Given the description of an element on the screen output the (x, y) to click on. 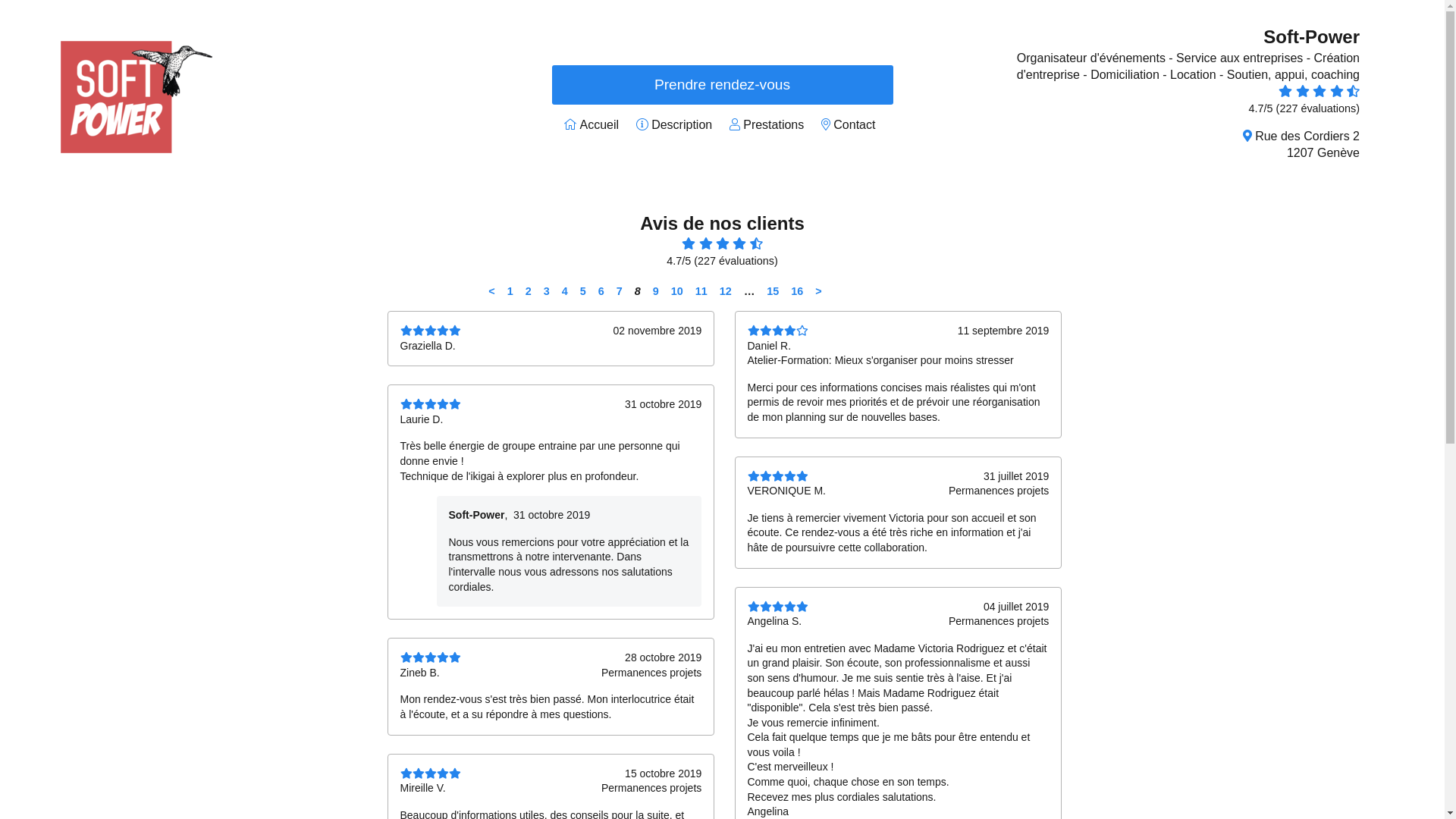
3 Element type: text (546, 290)
> Element type: text (818, 290)
6 Element type: text (601, 290)
11 Element type: text (701, 290)
Accueil Element type: text (599, 124)
< Element type: text (491, 290)
7 Element type: text (619, 290)
Prestations Element type: text (773, 124)
15 Element type: text (772, 290)
9 Element type: text (655, 290)
1 Element type: text (510, 290)
Description Element type: text (681, 124)
4 Element type: text (564, 290)
12 Element type: text (725, 290)
Prendre rendez-vous Element type: text (722, 84)
16 Element type: text (796, 290)
10 Element type: text (677, 290)
Contact Element type: text (854, 124)
5 Element type: text (583, 290)
2 Element type: text (528, 290)
